Given the description of an element on the screen output the (x, y) to click on. 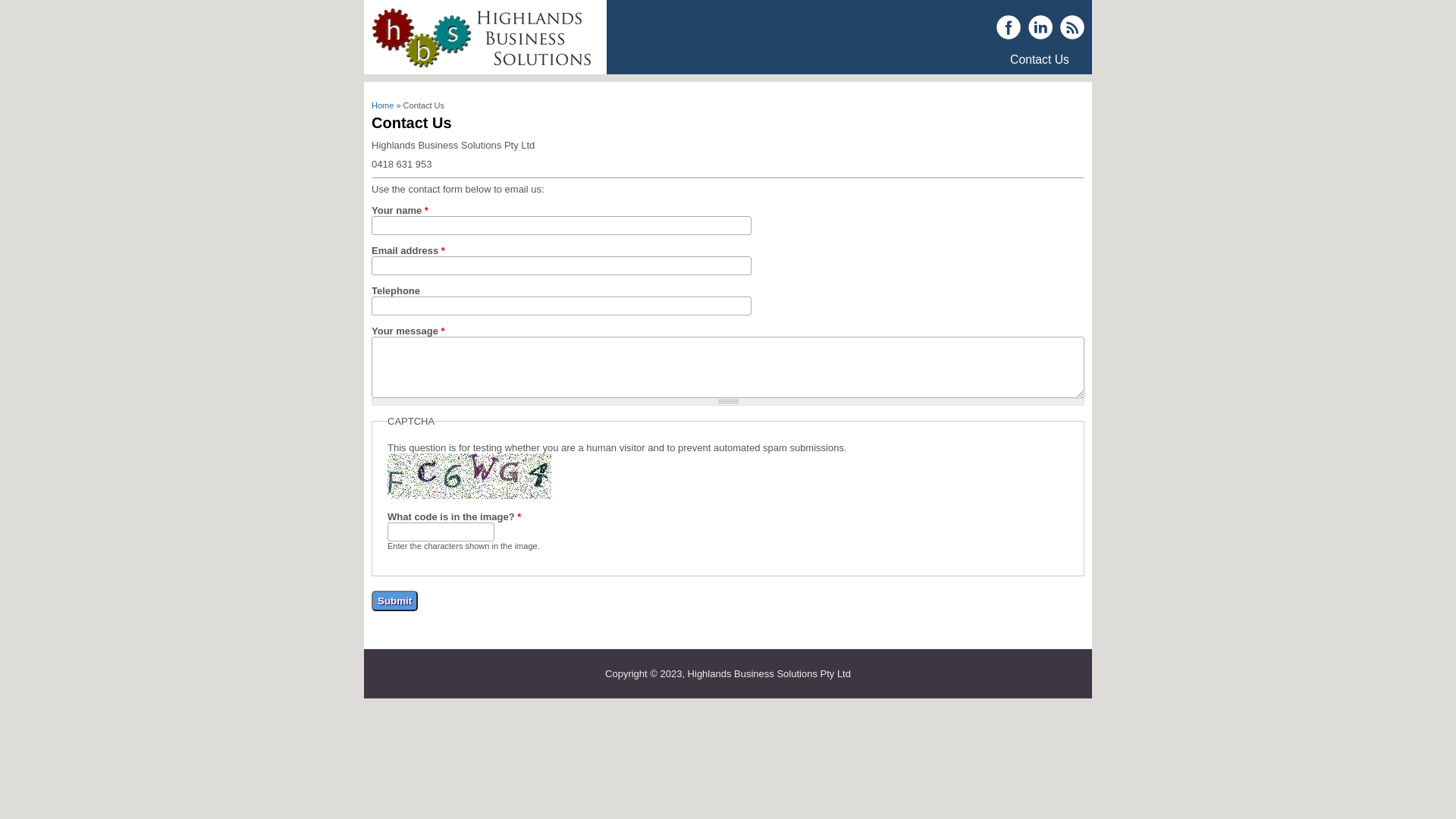
Contact Us Element type: text (1039, 59)
Submit Element type: text (394, 600)
Home Element type: text (382, 104)
Home Element type: hover (481, 64)
Image CAPTCHA Element type: hover (469, 475)
